Given the description of an element on the screen output the (x, y) to click on. 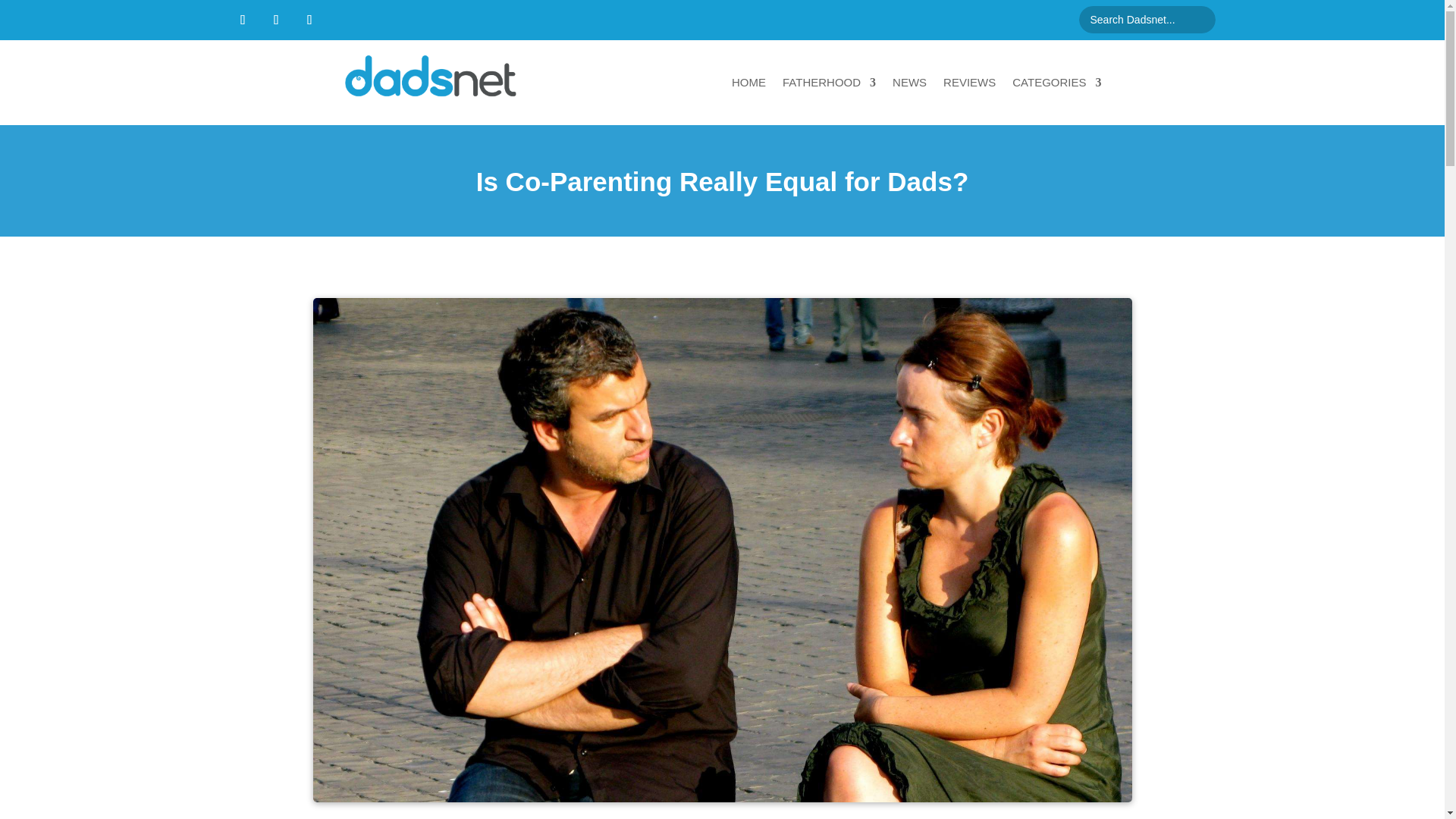
Follow on Instagram (309, 19)
Follow on Facebook (242, 19)
REVIEWS (969, 82)
FATHERHOOD (829, 82)
Search (24, 13)
Follow on X (275, 19)
CATEGORIES (1055, 82)
